Given the description of an element on the screen output the (x, y) to click on. 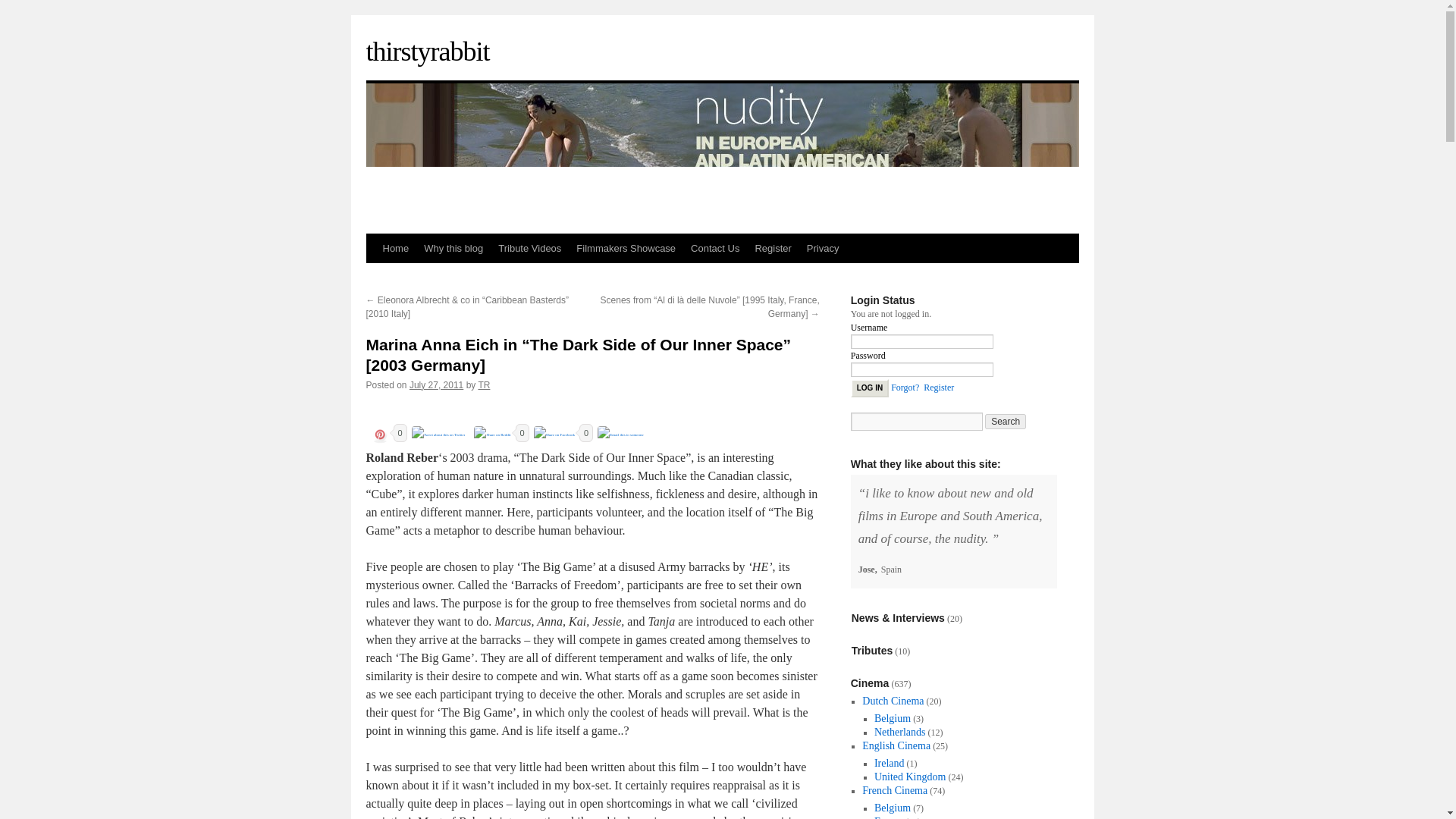
a showcase of independent filmmakers by thirstyrabbit (625, 248)
July 27, 2011 (436, 385)
Tribute Videos (529, 248)
Skip to content (372, 277)
Reddit (491, 434)
thirstyrabbit (427, 51)
TR (483, 385)
Home (395, 248)
Privacy (823, 248)
View all posts by TR (483, 385)
Skip to content (372, 277)
Why this blog (453, 248)
Twitter (438, 434)
Register (771, 248)
Filmmakers Showcase (625, 248)
